Given the description of an element on the screen output the (x, y) to click on. 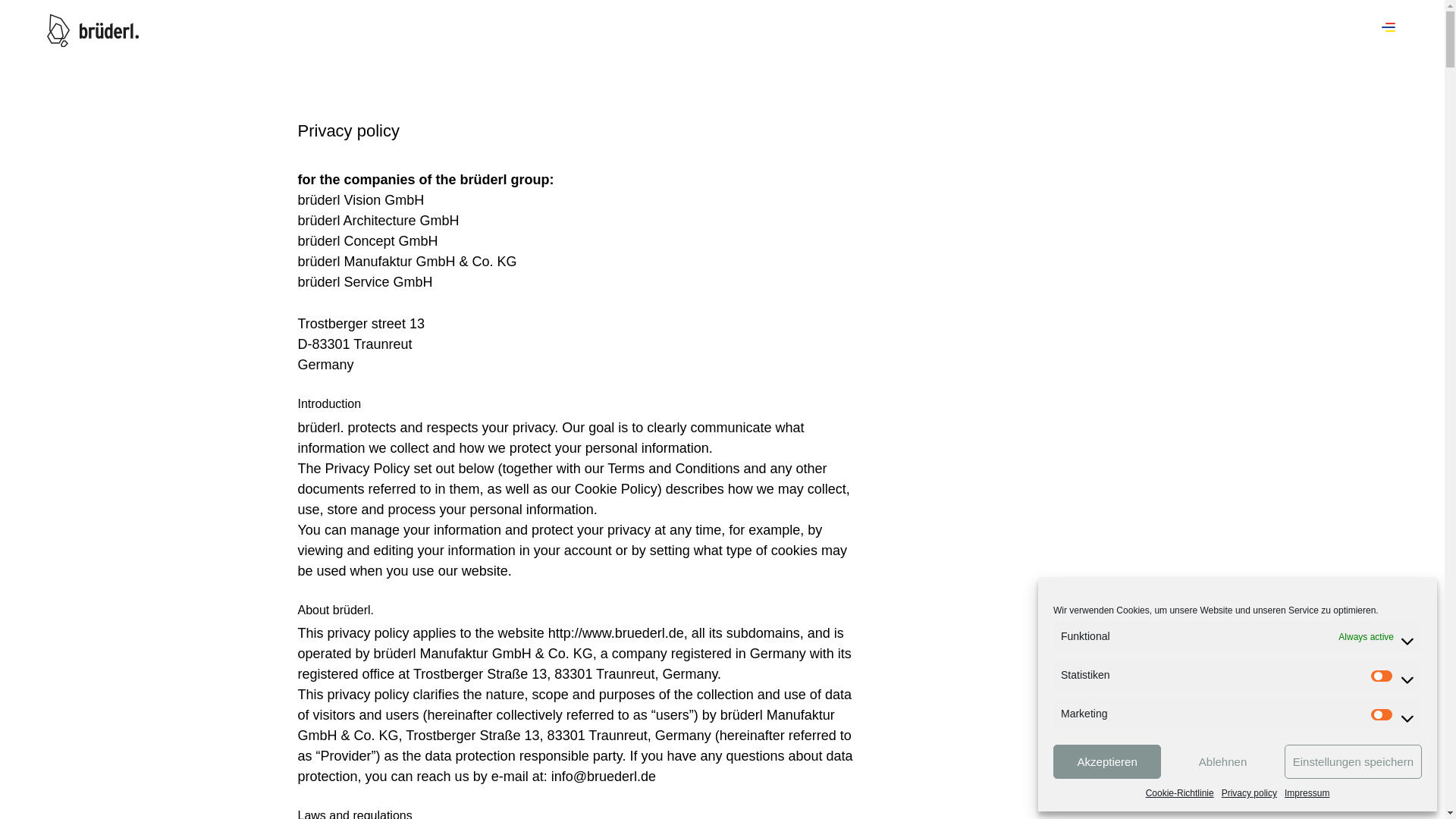
Impressum (1306, 793)
Akzeptieren (1106, 761)
Ablehnen (1222, 761)
Cookie-Richtlinie (1179, 793)
Einstellungen speichern (1353, 761)
Privacy policy (1248, 793)
